Given the description of an element on the screen output the (x, y) to click on. 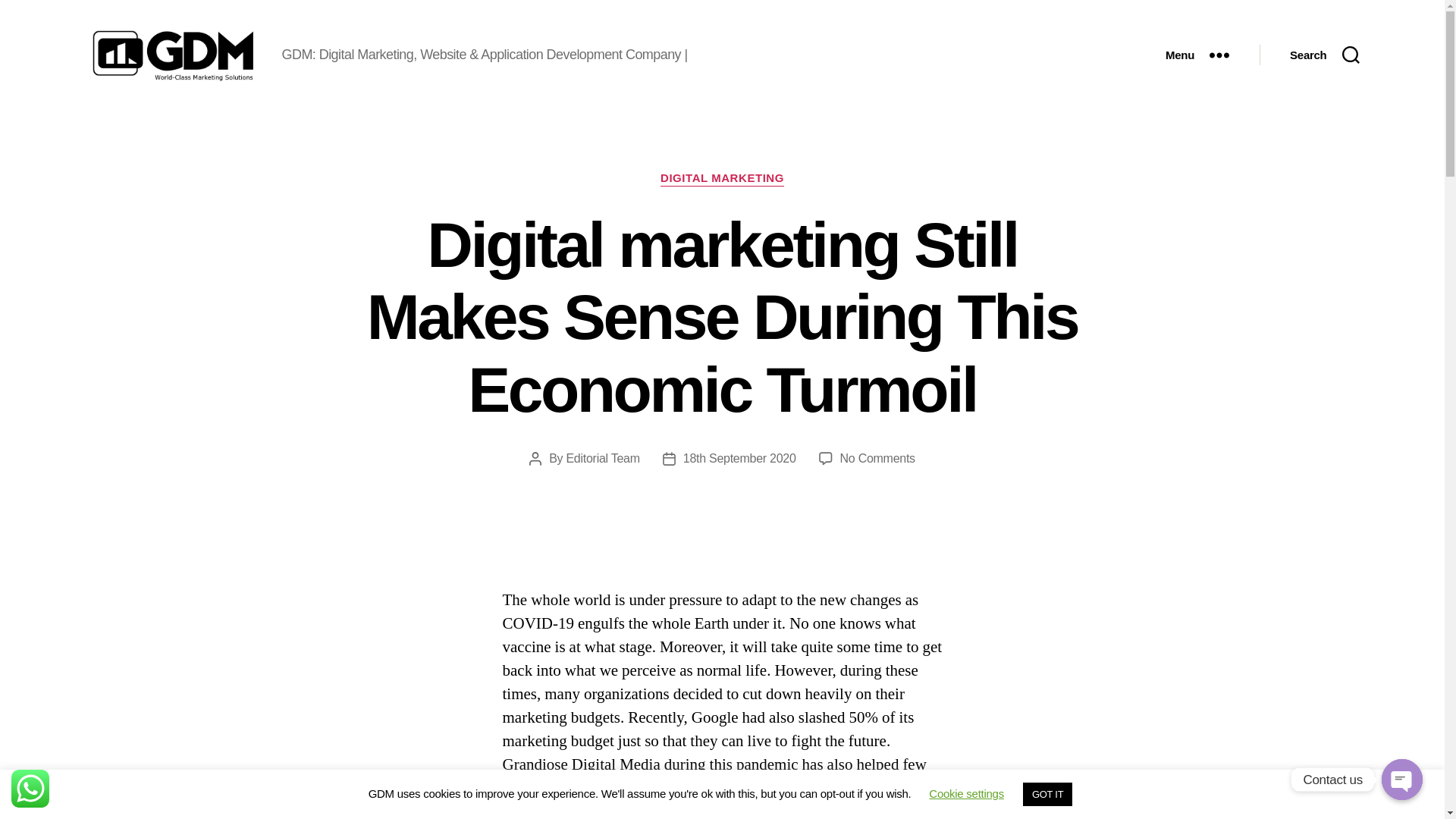
Menu (1197, 55)
Search (1324, 55)
